Given the description of an element on the screen output the (x, y) to click on. 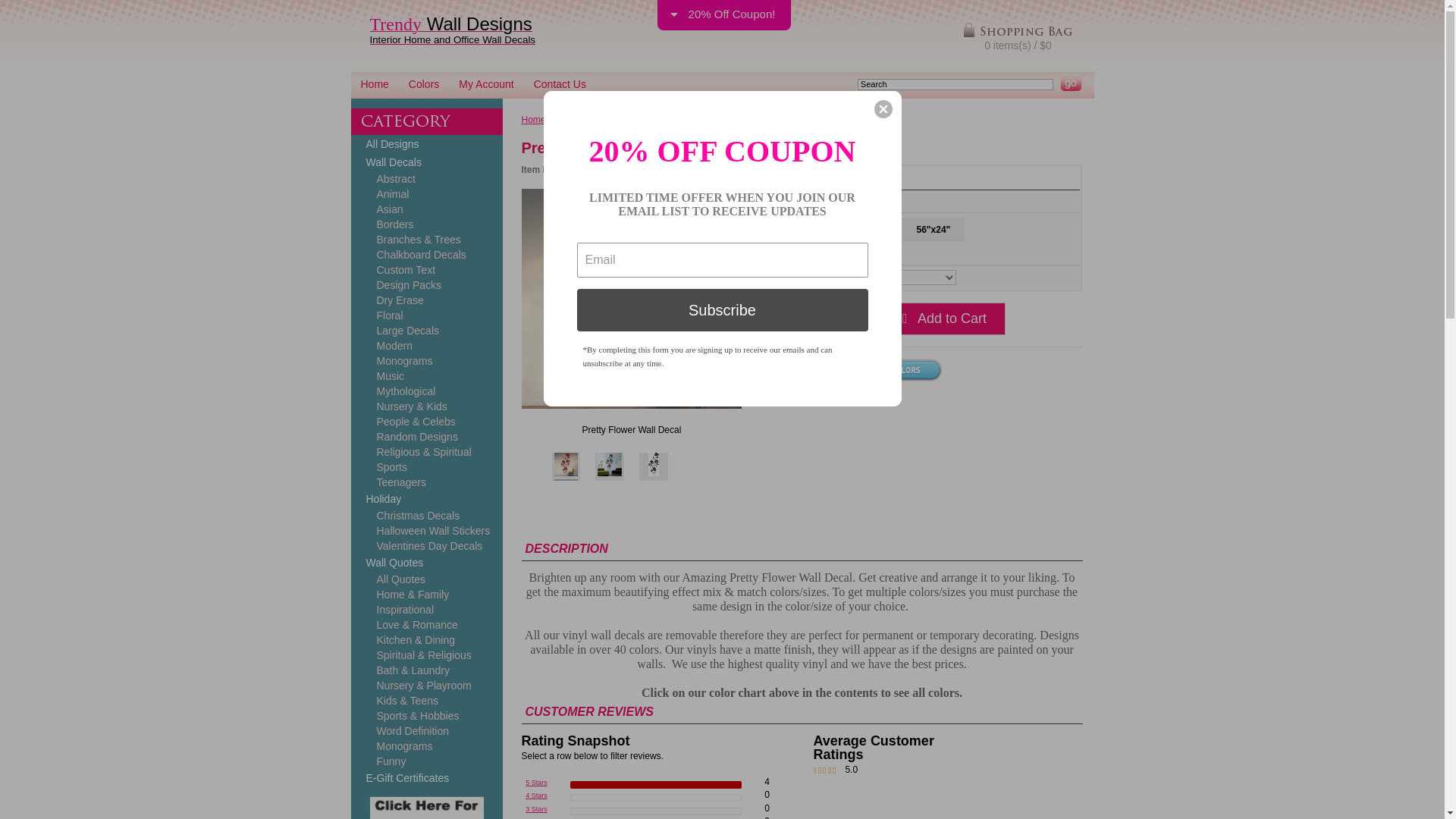
1 (844, 318)
Floral (426, 314)
Asian (426, 209)
Sports (426, 467)
Pretty Flower Wall Decal  (565, 466)
Valentines Day Decals (426, 545)
Interior Home and Office Wall Decals (452, 40)
Modern (426, 345)
Abstract (426, 178)
Animal (426, 193)
Design Packs (426, 284)
Christmas Decals (426, 515)
My Account (485, 83)
